Given the description of an element on the screen output the (x, y) to click on. 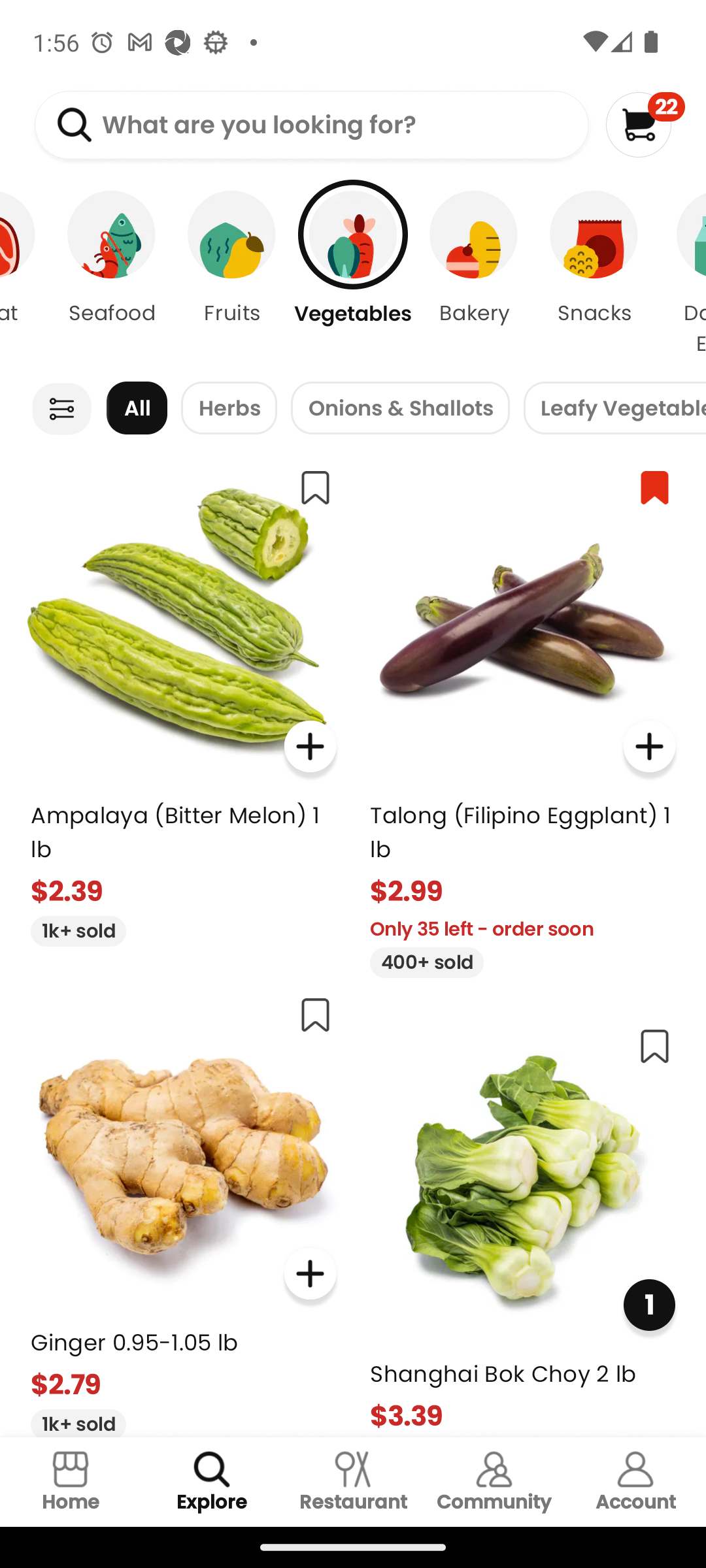
What are you looking for? (311, 124)
22 (644, 124)
Seafood (111, 274)
Fruits (232, 274)
Vegetables (352, 274)
Bakery (473, 274)
Snacks (593, 274)
All (136, 407)
Herbs (228, 407)
Onions & Shallots (399, 407)
Leafy Vegetables (614, 407)
Ampalaya (Bitter Melon) 1 lb $2.39 1k+ sold (182, 700)
Ginger 0.95-1.05 lb $2.79 1k+ sold (182, 1208)
1 Shanghai Bok Choy 2 lb $3.39 (522, 1224)
1 (648, 1305)
Home (70, 1482)
Explore (211, 1482)
Restaurant (352, 1482)
Community (493, 1482)
Account (635, 1482)
